Given the description of an element on the screen output the (x, y) to click on. 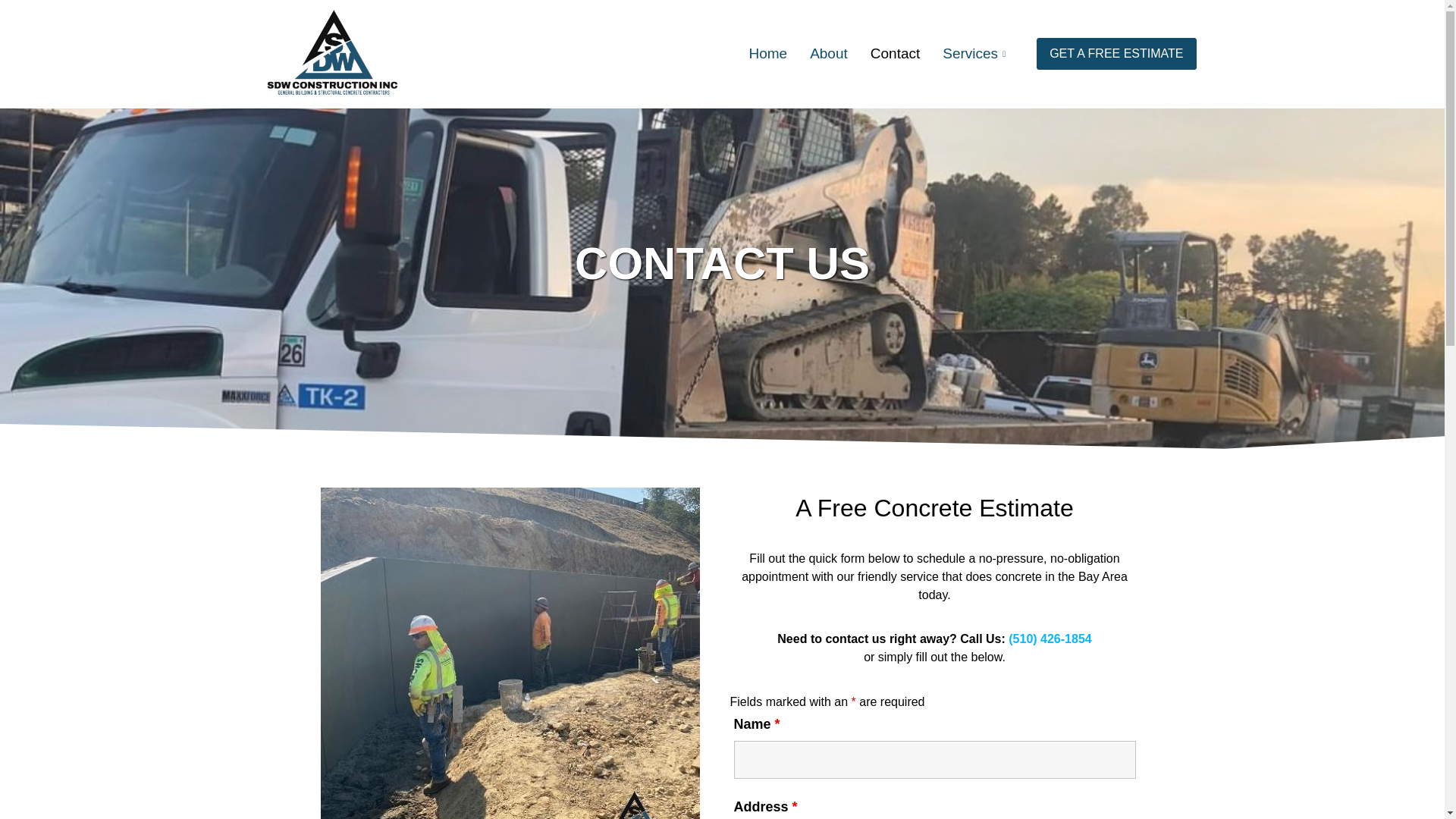
Home (766, 53)
Contact (895, 53)
GET A FREE ESTIMATE (1115, 53)
GET A FREE ESTIMATE (1116, 53)
Services (978, 53)
About (828, 53)
